Given the description of an element on the screen output the (x, y) to click on. 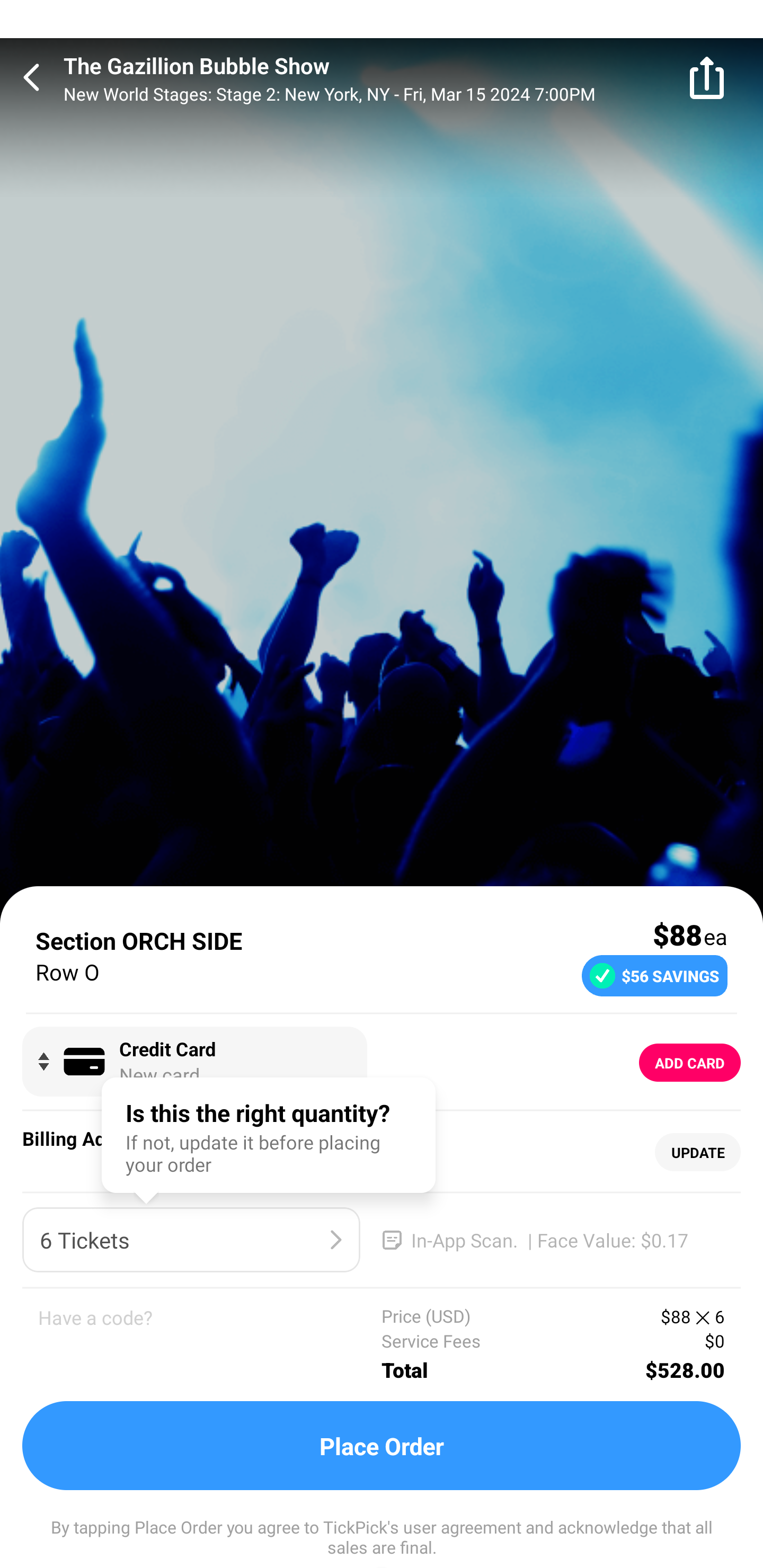
$56 SAVINGS (654, 974)
Credit Card, New card Credit Card New card (194, 1061)
ADD CARD (689, 1062)
UPDATE (697, 1152)
6 Tickets (191, 1239)
In-App Scan.  | Face Value: $0.17 (552, 1239)
Have a code? (209, 1344)
Place Order (381, 1445)
